Given the description of an element on the screen output the (x, y) to click on. 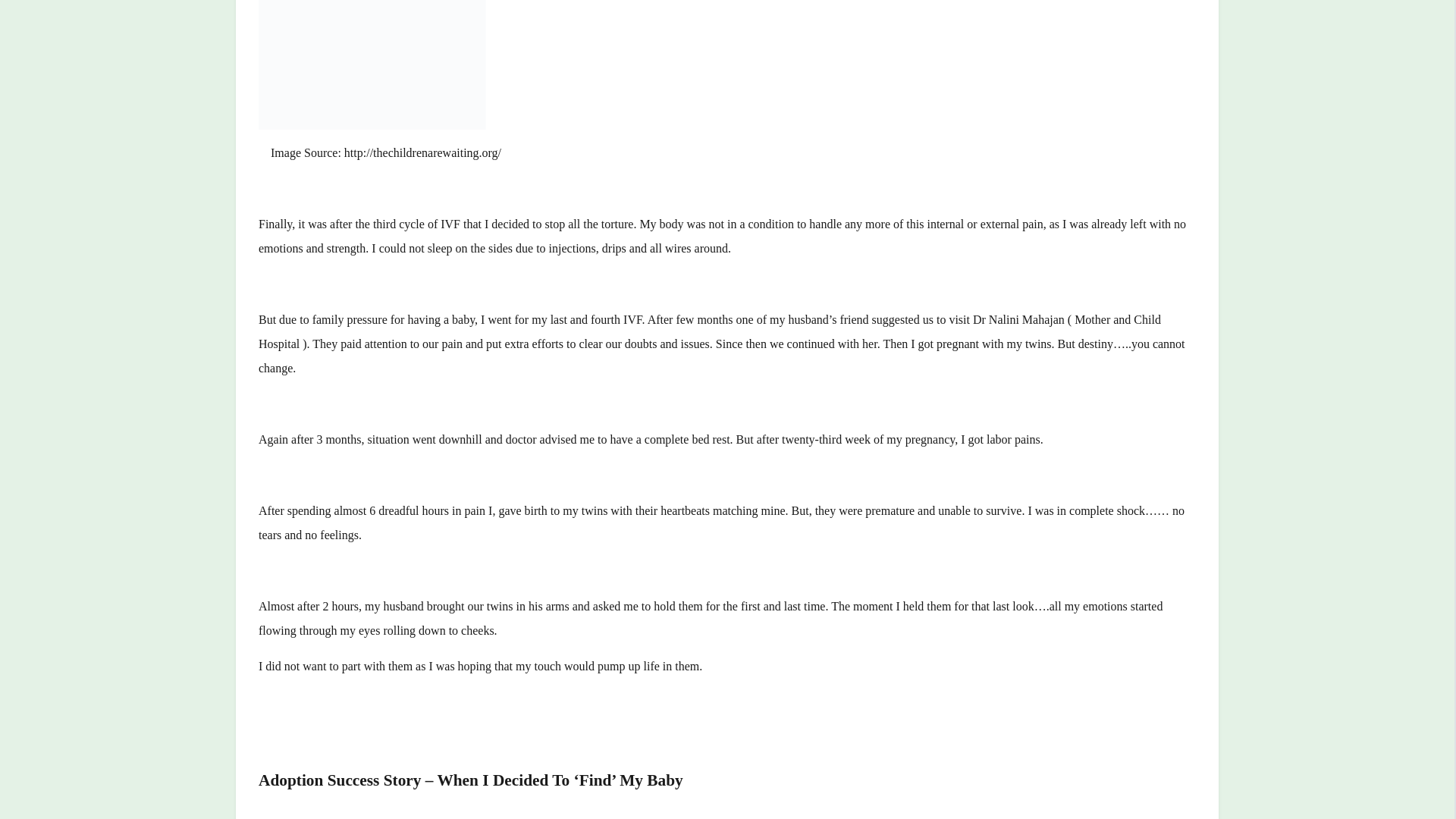
Maitrichhaya (786, 818)
